Given the description of an element on the screen output the (x, y) to click on. 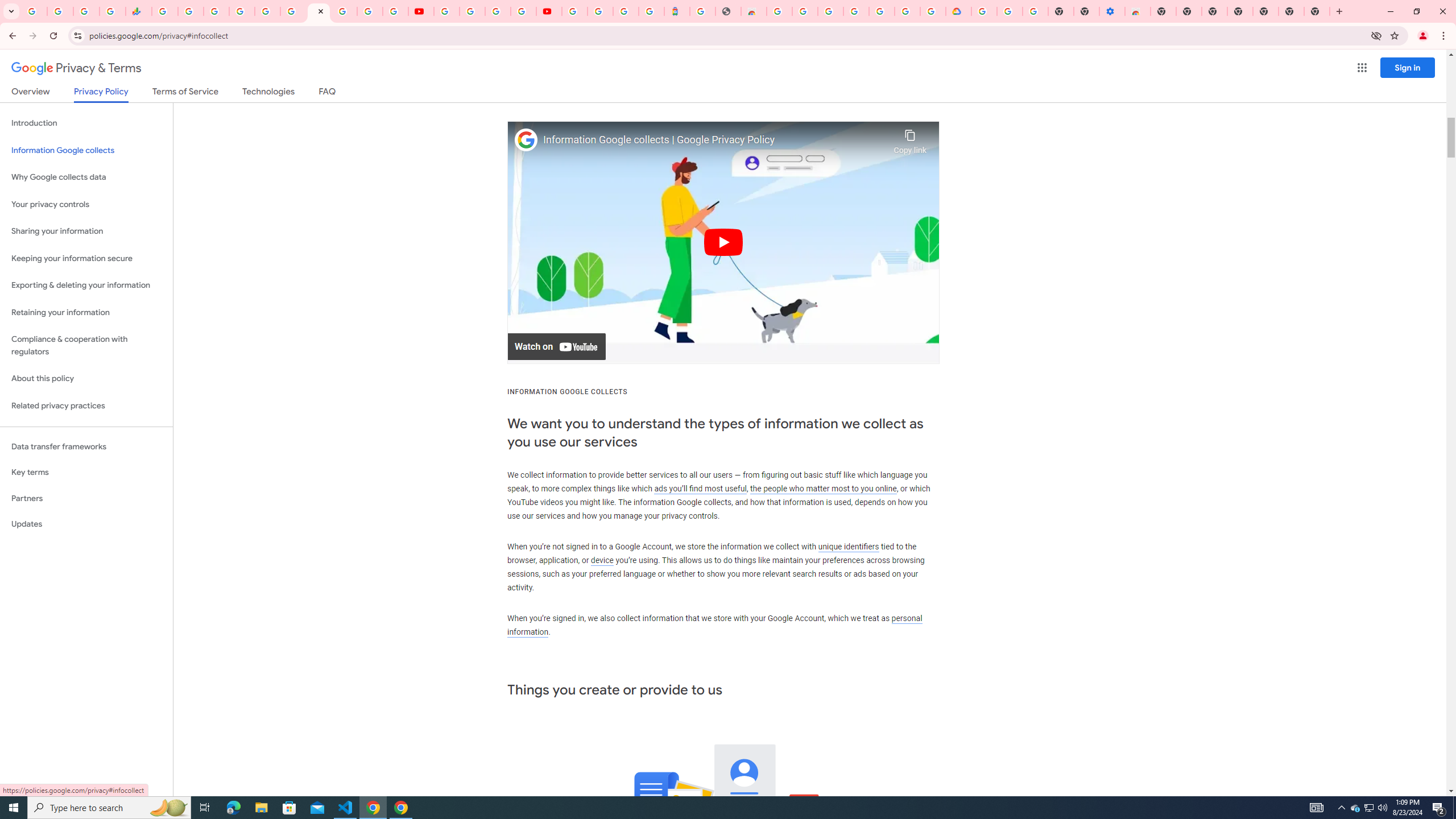
Third-party cookies blocked (1376, 35)
New Tab (1162, 11)
Compliance & cooperation with regulators (86, 345)
YouTube (446, 11)
FAQ (327, 93)
Sign in - Google Accounts (242, 11)
Information Google collects | Google Privacy Policy (715, 140)
Overview (30, 93)
Sign in - Google Accounts (983, 11)
Key terms (86, 472)
Watch on YouTube (556, 346)
